Given the description of an element on the screen output the (x, y) to click on. 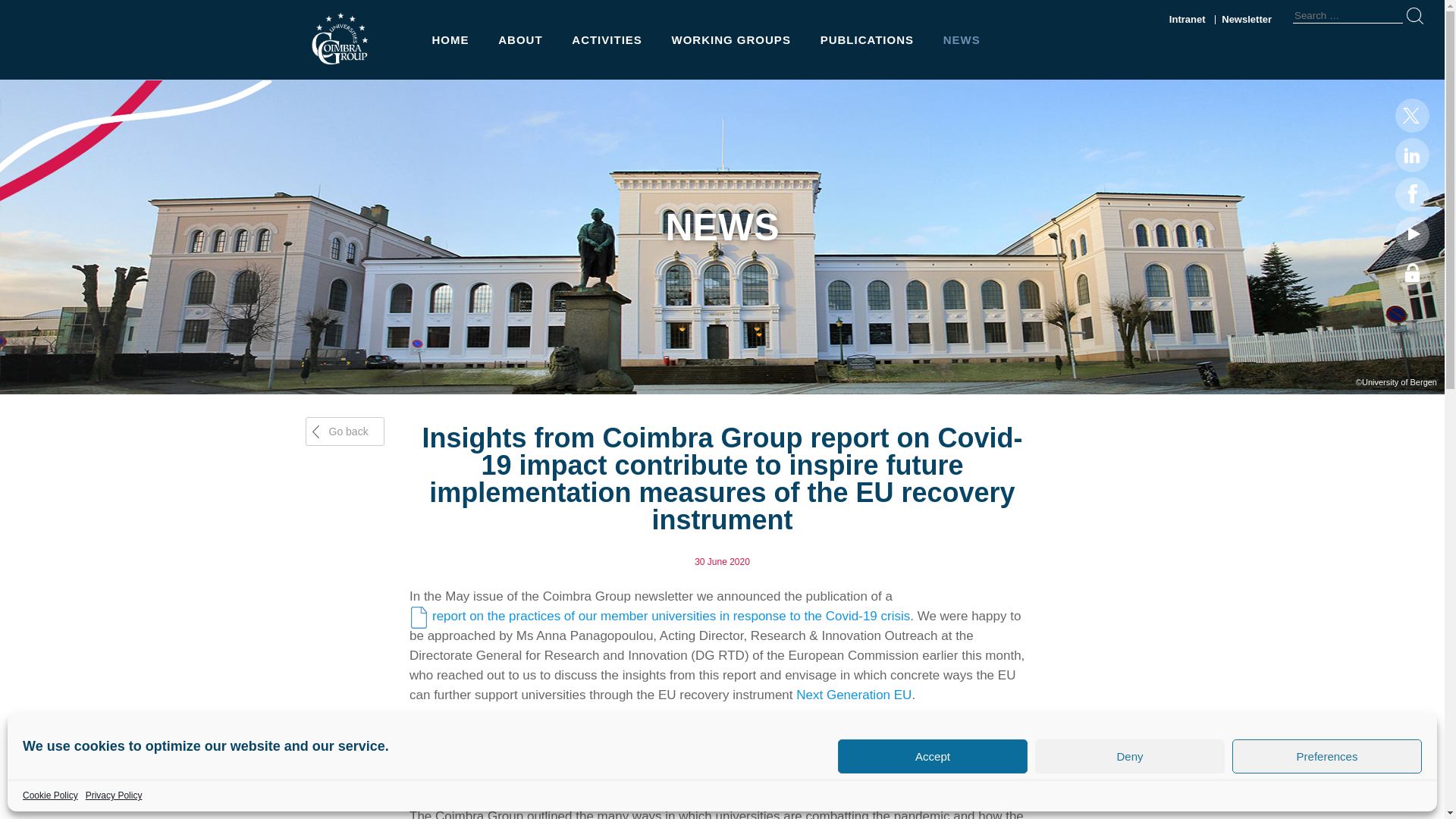
Preferences (1326, 756)
Deny (1129, 756)
ACTIVITIES (607, 39)
WORKING GROUPS (731, 39)
PUBLICATIONS (867, 39)
ABOUT (519, 39)
Accept (932, 756)
Privacy Policy (113, 795)
HOME (450, 39)
Cookie Policy (50, 795)
